Given the description of an element on the screen output the (x, y) to click on. 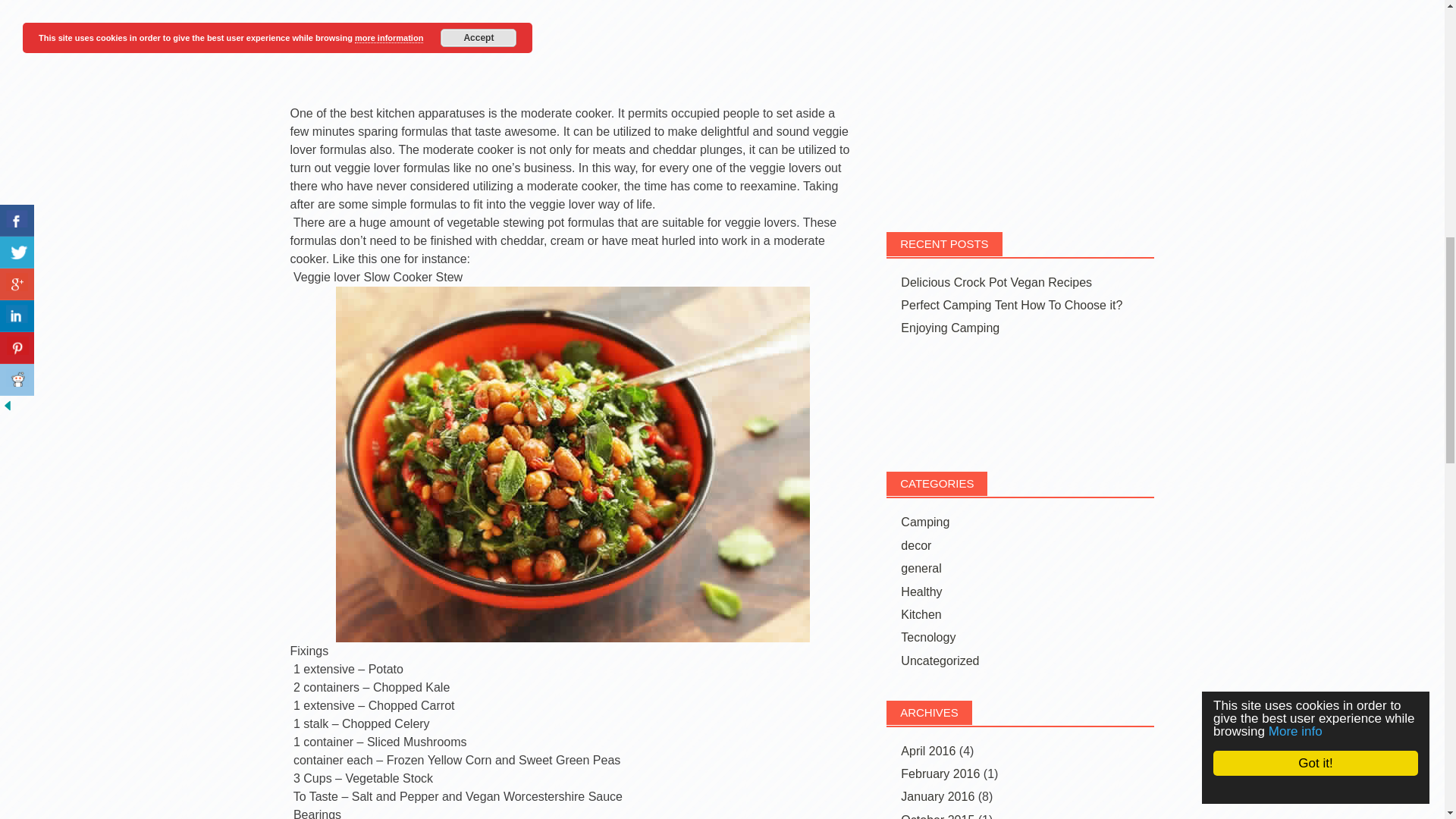
Delicious Crock Pot Vegan Recipes (996, 282)
Camping (925, 521)
Enjoying Camping (949, 327)
Perfect Camping Tent How To Choose it? (1011, 305)
Advertisement (1020, 401)
Advertisement (572, 52)
Advertisement (1020, 100)
